Given the description of an element on the screen output the (x, y) to click on. 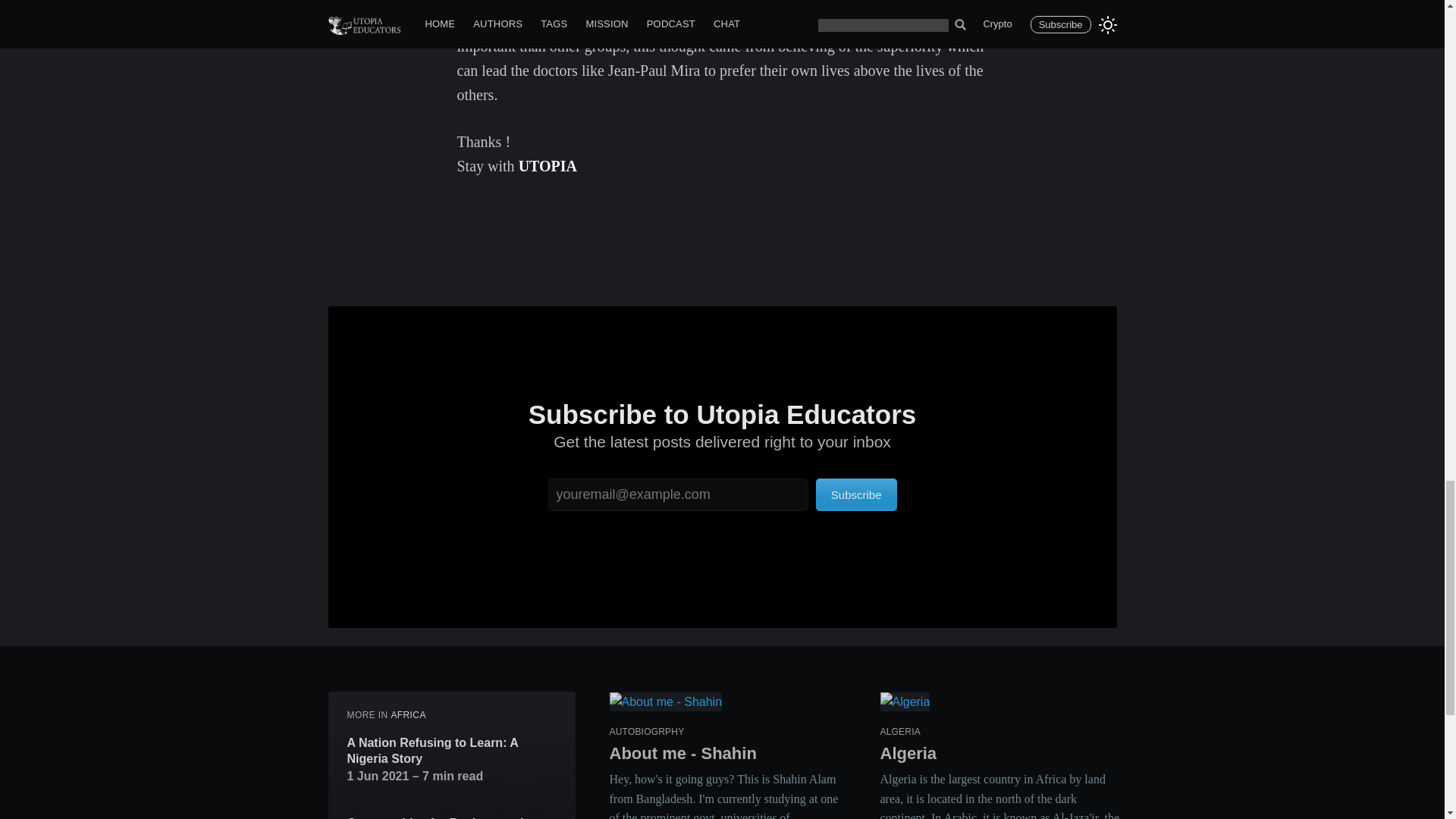
Opportunities for Businesses in Africa (451, 816)
A Nation Refusing to Learn: A Nigeria Story (451, 750)
Subscribe (855, 494)
AFRICA (407, 715)
